Given the description of an element on the screen output the (x, y) to click on. 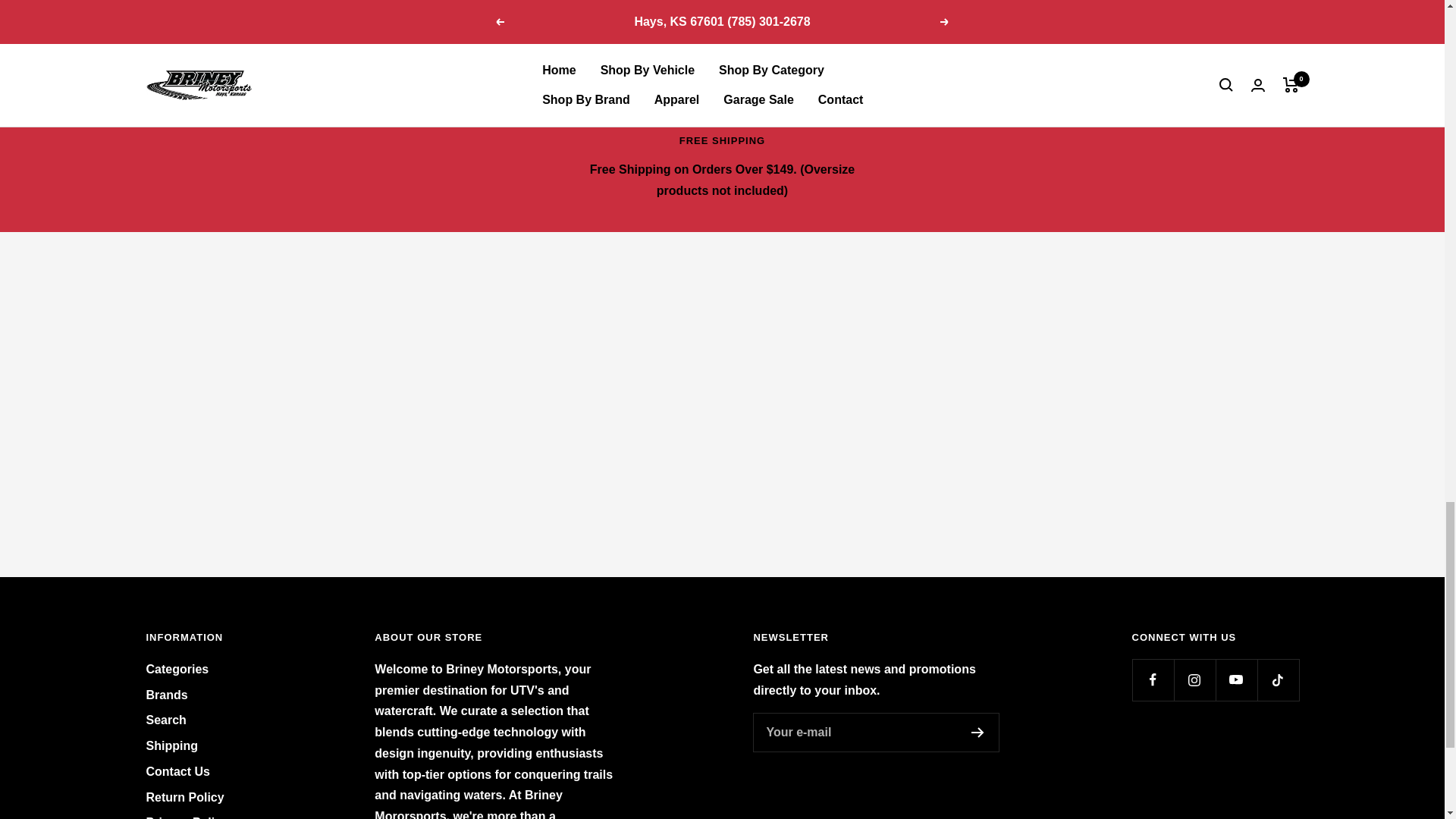
Register (977, 732)
